Given the description of an element on the screen output the (x, y) to click on. 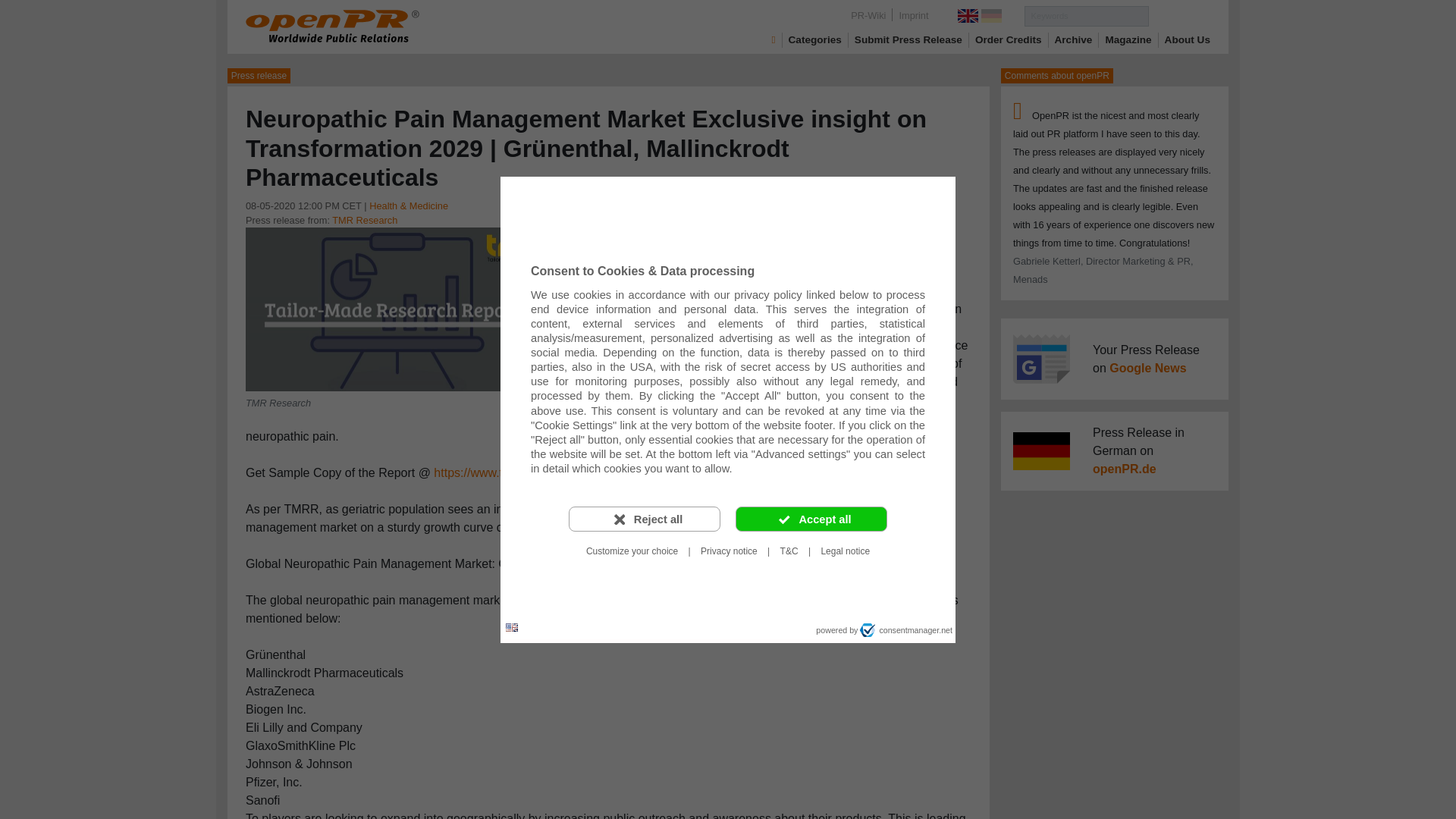
Search   (1178, 15)
About Us (1186, 39)
Accept all (810, 518)
archive und pressrelease of TMR Research (364, 220)
Archive (1073, 39)
TMR Research (397, 308)
Language: en (511, 627)
Submit Press Release (908, 39)
Customize your choice (631, 550)
Magazine (1128, 39)
Reject all (644, 518)
consentmanager.net (906, 630)
Categories (815, 39)
Imprint (913, 15)
Privacy notice (729, 550)
